Given the description of an element on the screen output the (x, y) to click on. 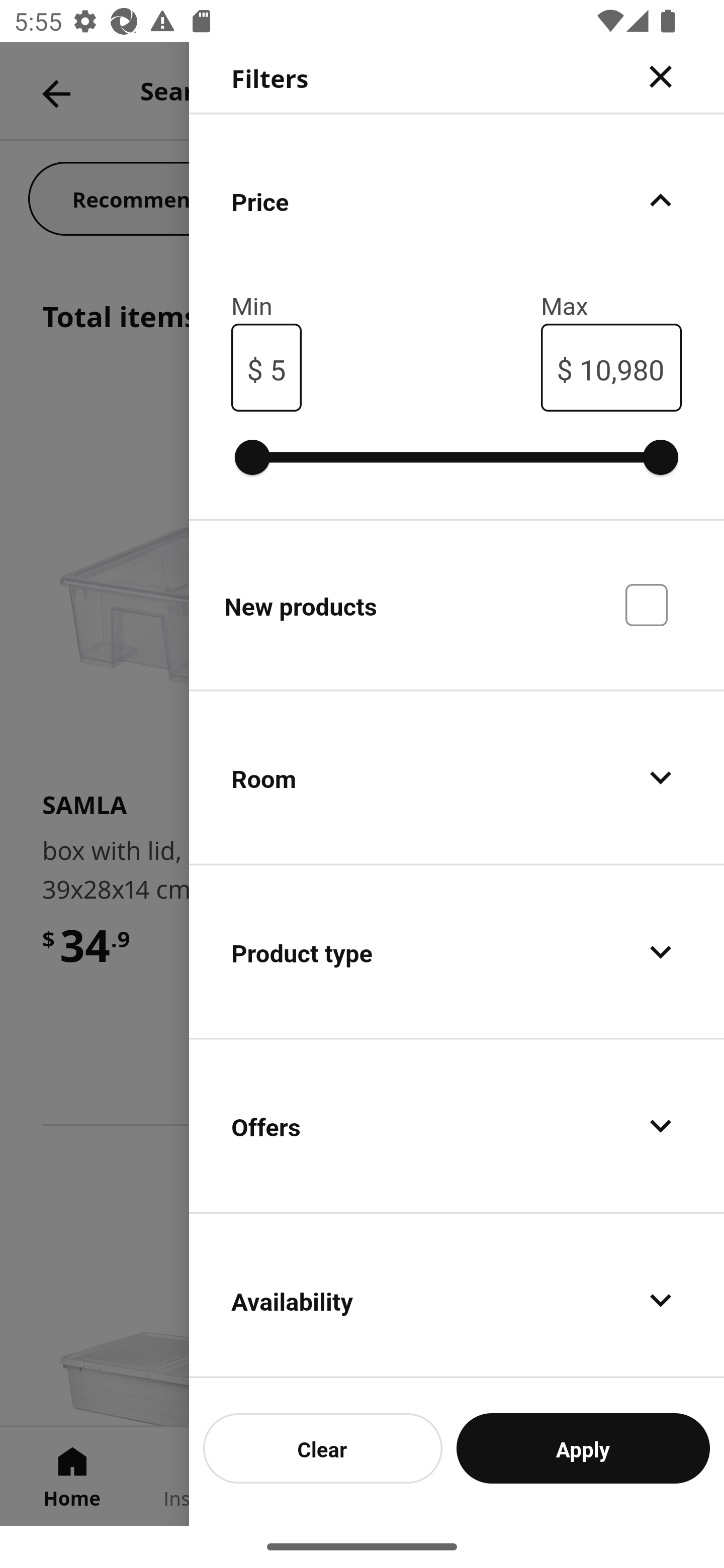
Price (456, 200)
$  5 (265, 366)
$  10,980 (611, 366)
5 (277, 367)
10,980 (622, 367)
0% 100% (456, 457)
New products (456, 604)
Room (456, 777)
Product type (456, 951)
Offers (456, 1125)
Availability (456, 1295)
Clear (322, 1447)
Apply (583, 1447)
